Given the description of an element on the screen output the (x, y) to click on. 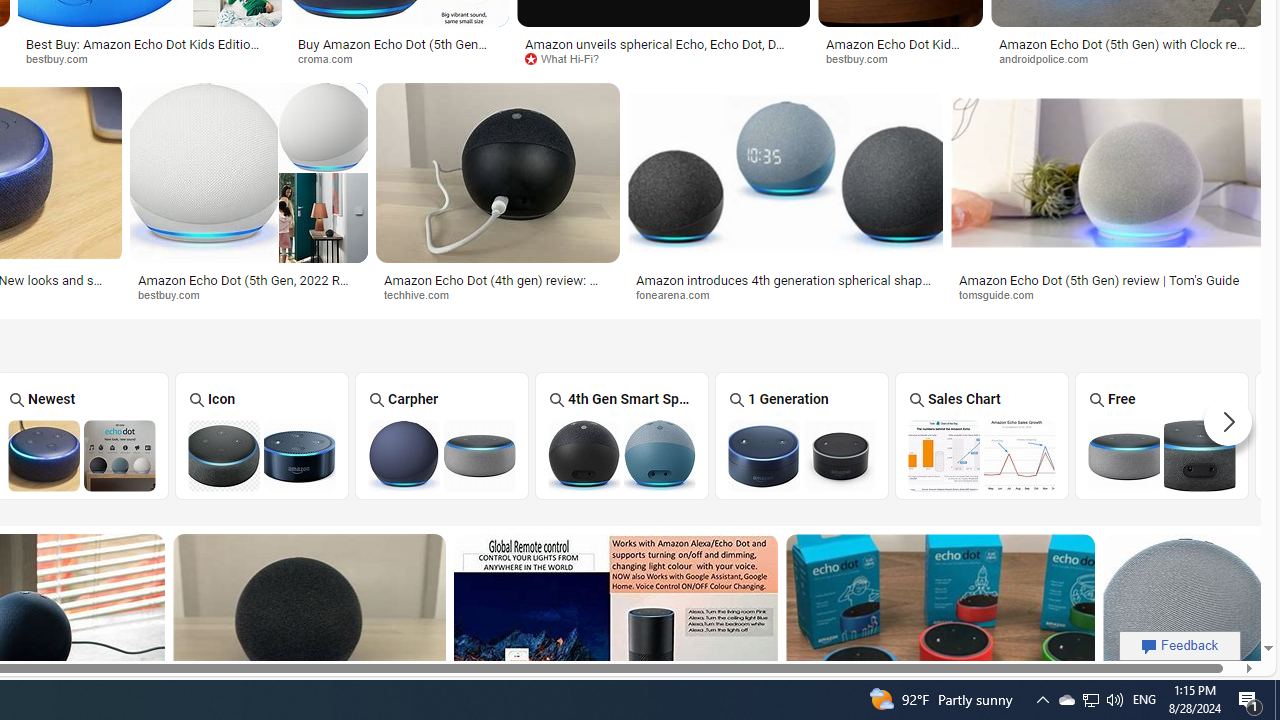
Amazon Echo Dot Sales Chart (981, 455)
Feedback (1179, 645)
Icon (262, 435)
androidpolice.com (1128, 58)
techhive.com (497, 295)
Amazon Echo Dot (5th Gen) review | Tom's Guide (1099, 279)
